Given the description of an element on the screen output the (x, y) to click on. 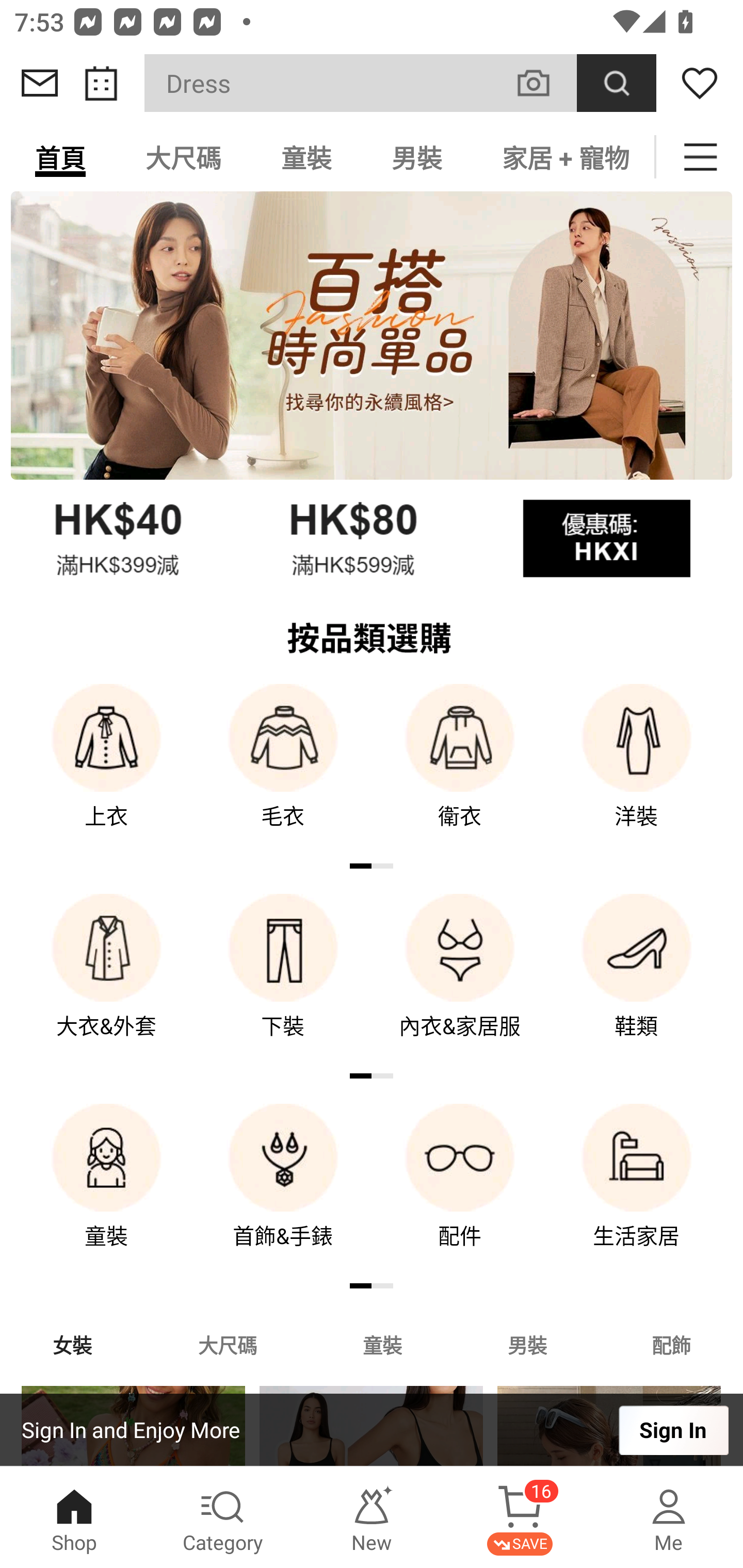
Wishlist (699, 82)
VISUAL SEARCH (543, 82)
首頁 (60, 156)
大尺碼 (183, 156)
童裝 (306, 156)
男裝 (416, 156)
家居 + 寵物 (563, 156)
上衣 (105, 769)
毛衣 (282, 769)
衛衣 (459, 769)
洋裝 (636, 769)
大衣&外套 (105, 979)
下裝 (282, 979)
內衣&家居服 (459, 979)
鞋類 (636, 979)
童裝 (105, 1189)
首飾&手錶 (282, 1189)
配件 (459, 1189)
生活家居 (636, 1189)
女裝 (72, 1344)
大尺碼 (226, 1344)
童裝 (381, 1344)
男裝 (527, 1344)
配飾 (671, 1344)
Sign In and Enjoy More Sign In (371, 1429)
Category (222, 1517)
New (371, 1517)
Cart 16 SAVE (519, 1517)
Me (668, 1517)
